Given the description of an element on the screen output the (x, y) to click on. 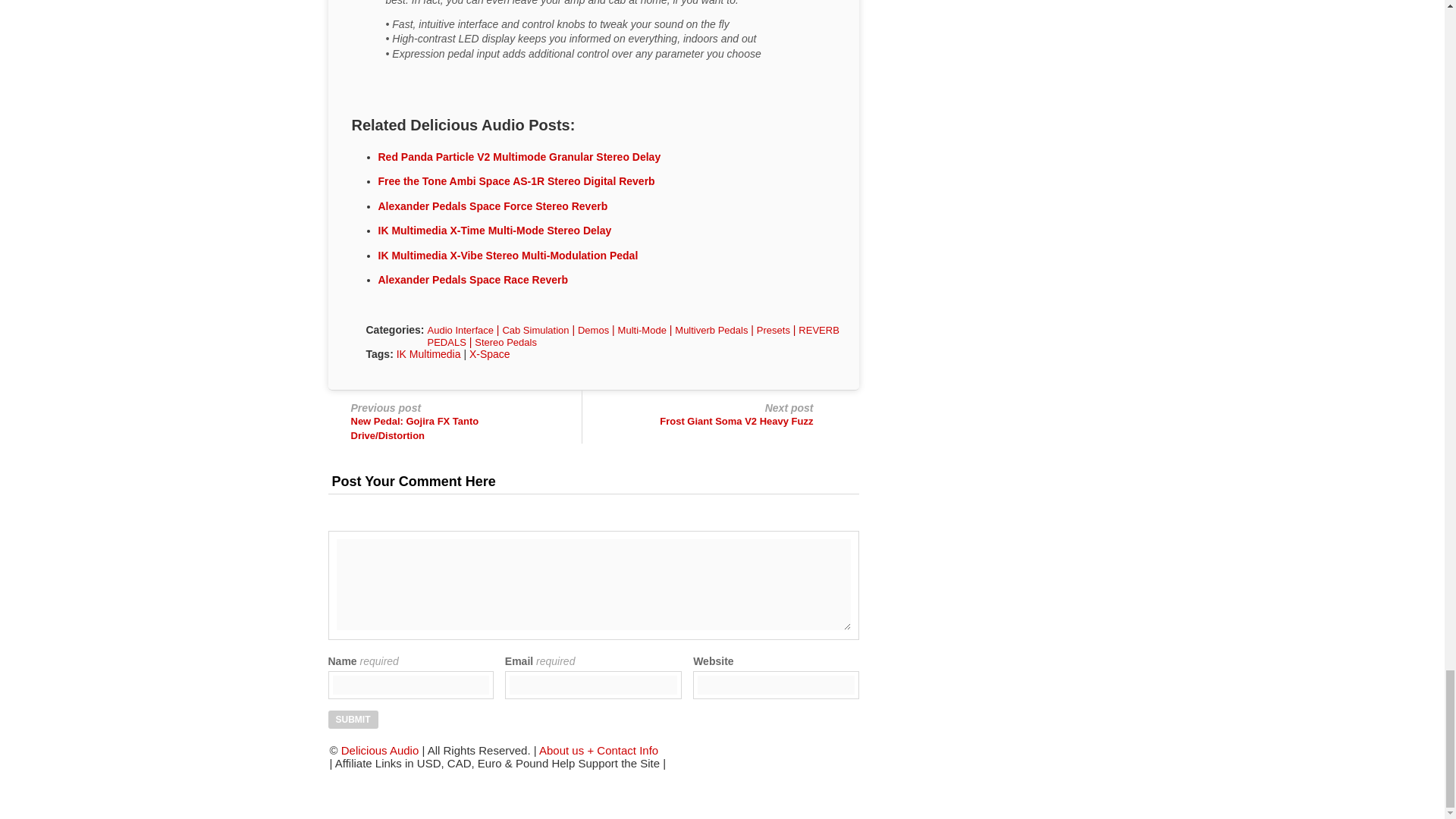
View all posts tagged IK Multimedia (428, 354)
View all posts tagged X-Space (489, 354)
